Given the description of an element on the screen output the (x, y) to click on. 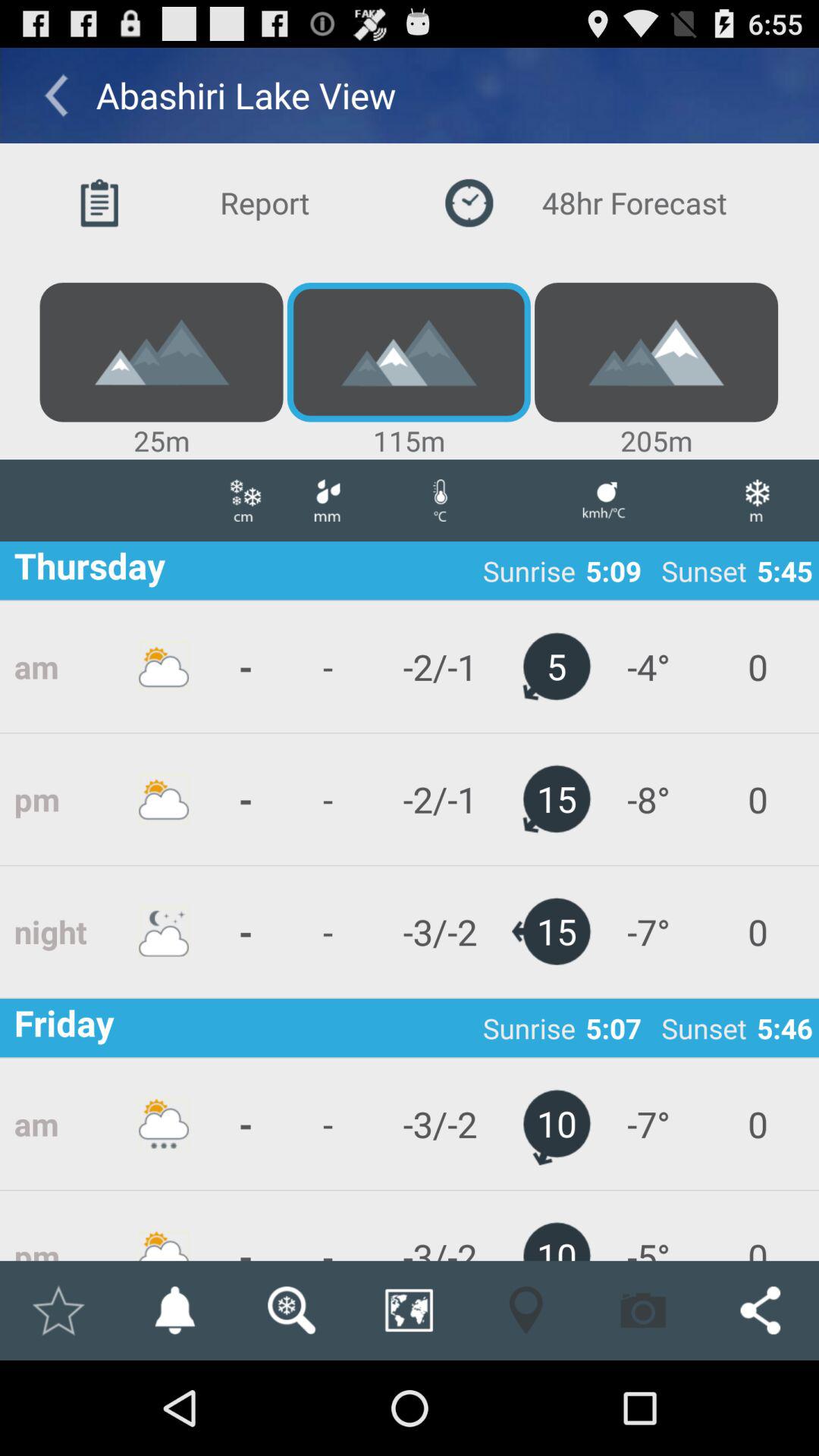
press icon below - app (291, 1310)
